Given the description of an element on the screen output the (x, y) to click on. 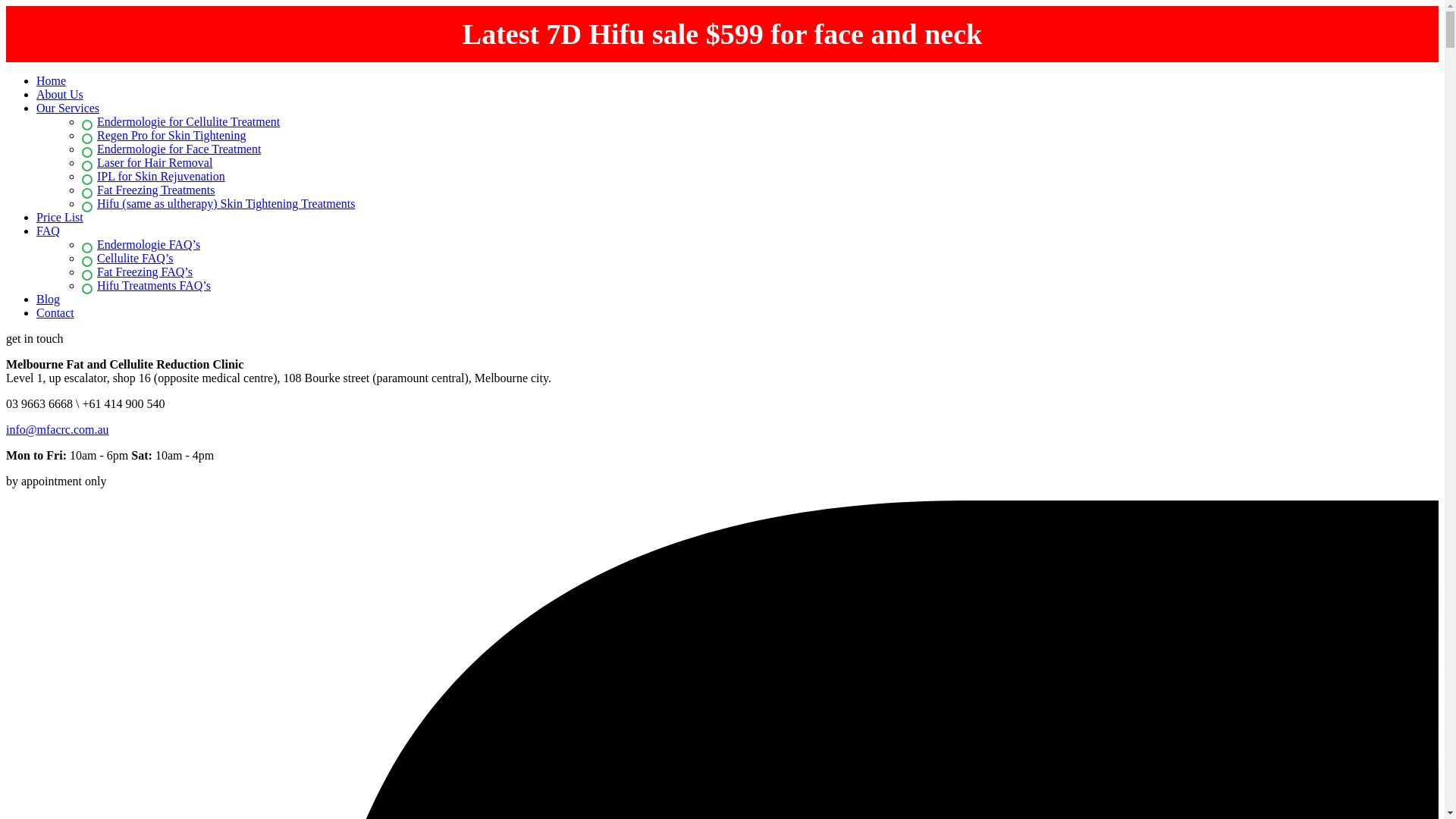
Our Services Element type: text (67, 107)
Contact Element type: text (55, 312)
Regen Pro for Skin Tightening Element type: text (163, 134)
Endermologie for Face Treatment Element type: text (170, 148)
FAQ Element type: text (47, 230)
Price List Element type: text (59, 216)
Blog Element type: text (47, 298)
Hifu (same as ultherapy) Skin Tightening Treatments Element type: text (217, 203)
Laser for Hair Removal Element type: text (146, 162)
About Us Element type: text (59, 93)
Fat Freezing Treatments Element type: text (148, 189)
info@mfacrc.com.au Element type: text (57, 429)
Home Element type: text (50, 80)
Endermologie for Cellulite Treatment Element type: text (180, 121)
IPL for Skin Rejuvenation Element type: text (153, 175)
